Given the description of an element on the screen output the (x, y) to click on. 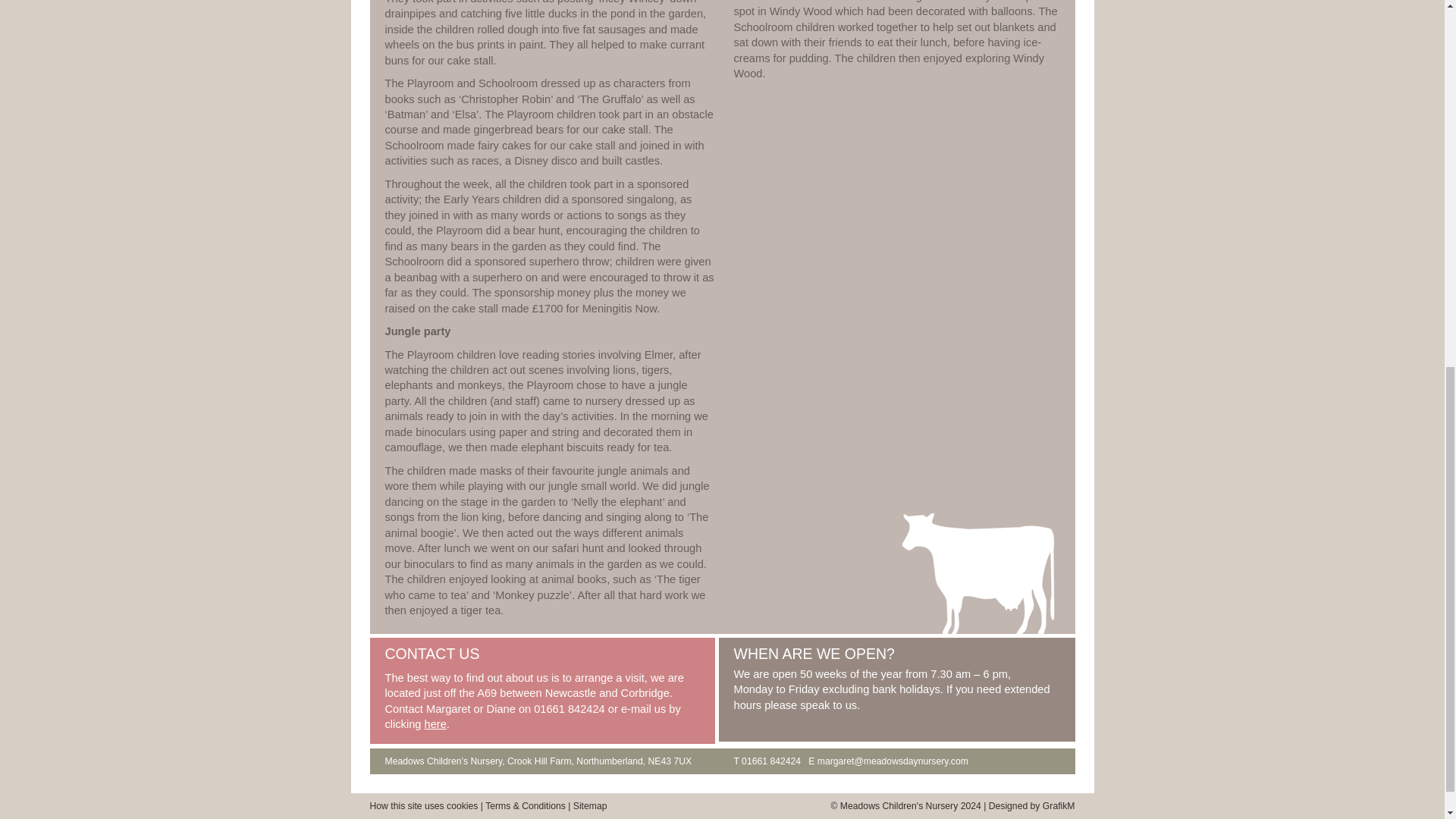
here (435, 724)
How this site uses cookies (424, 805)
Sitemap (590, 805)
GrafikM (1058, 805)
